Given the description of an element on the screen output the (x, y) to click on. 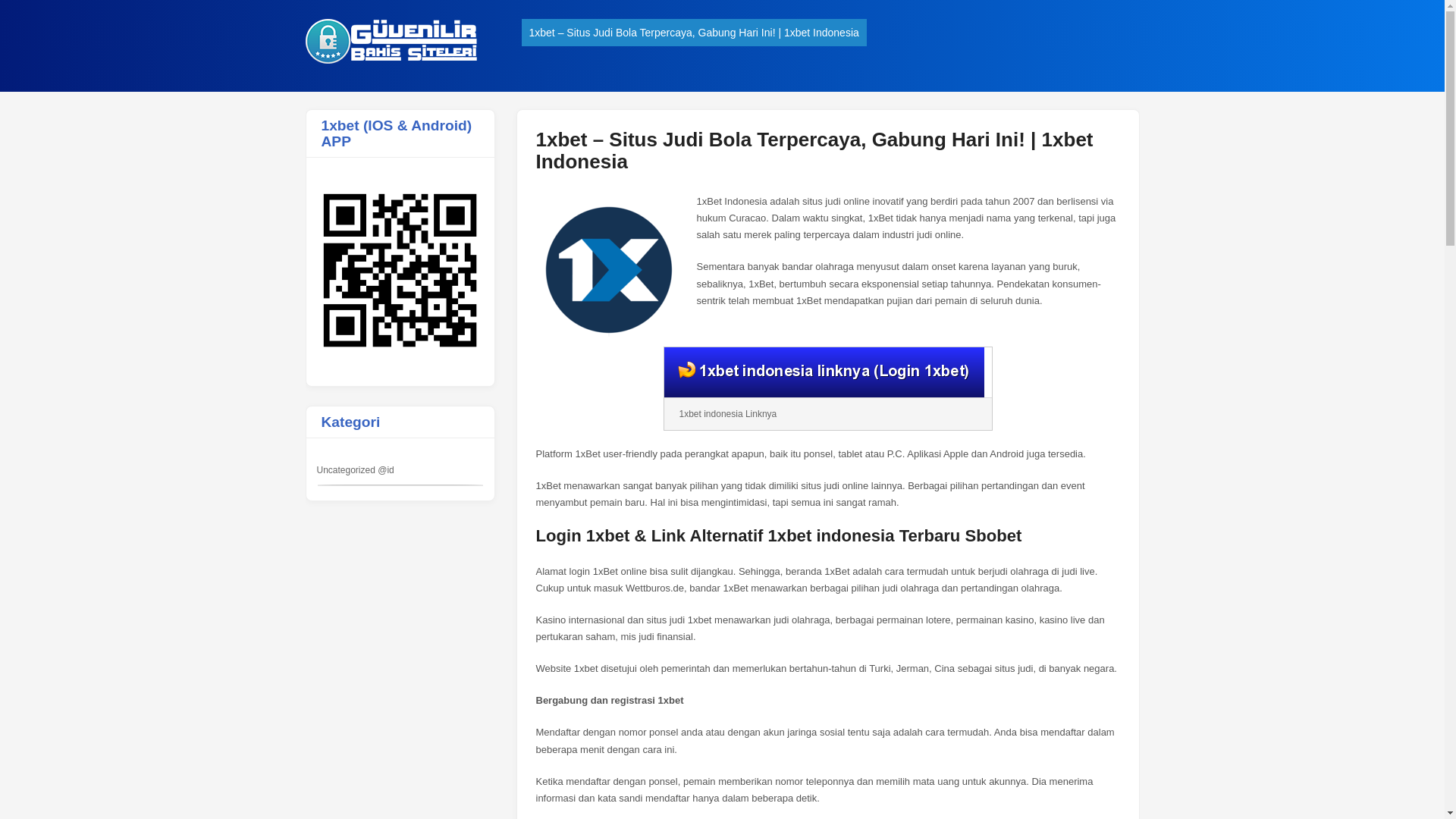
1xbet Element type: hover (393, 60)
Uncategorized @id Element type: text (355, 469)
